Given the description of an element on the screen output the (x, y) to click on. 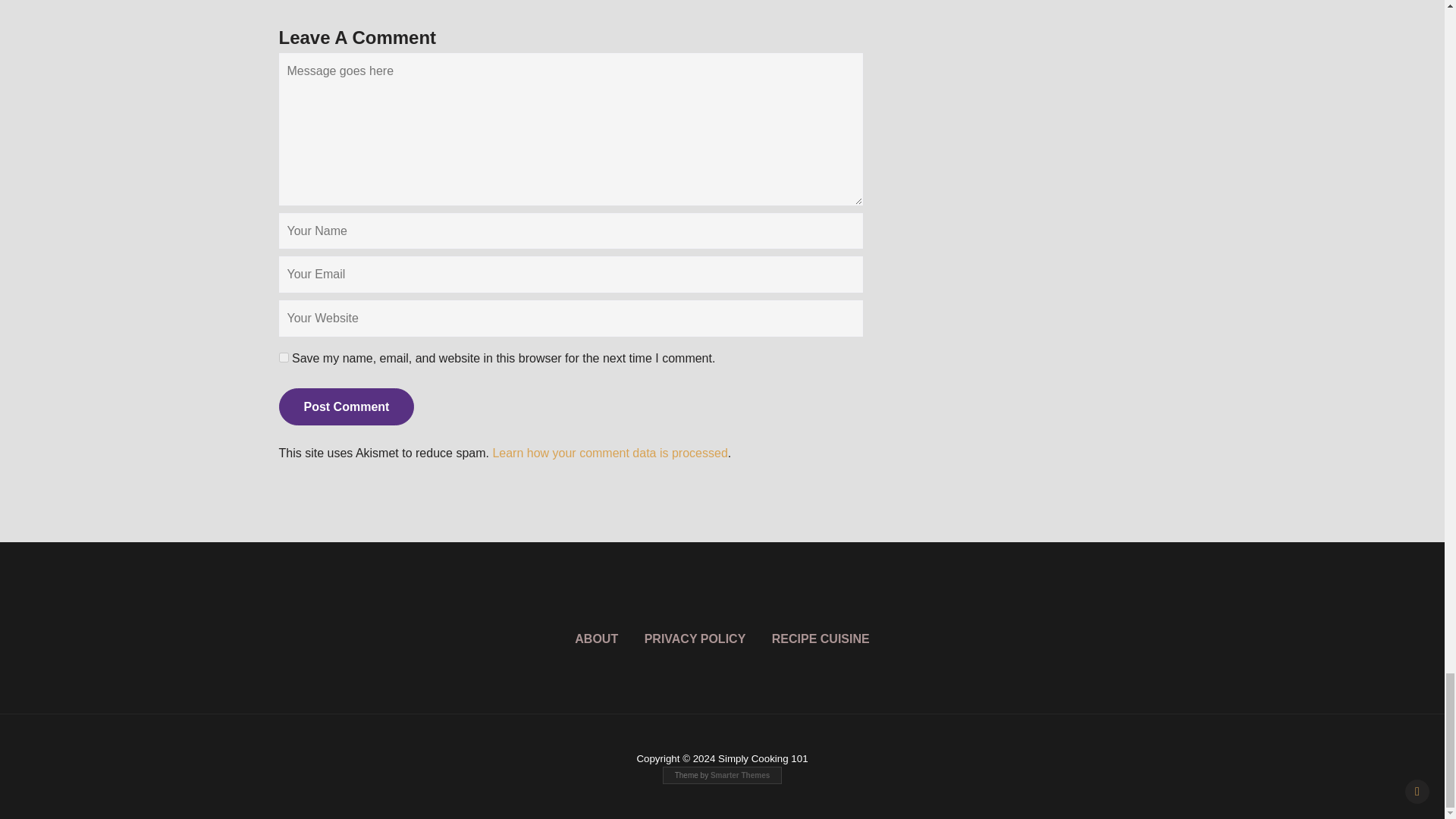
Post Comment (346, 406)
yes (283, 357)
Learn how your comment data is processed (609, 452)
